Given the description of an element on the screen output the (x, y) to click on. 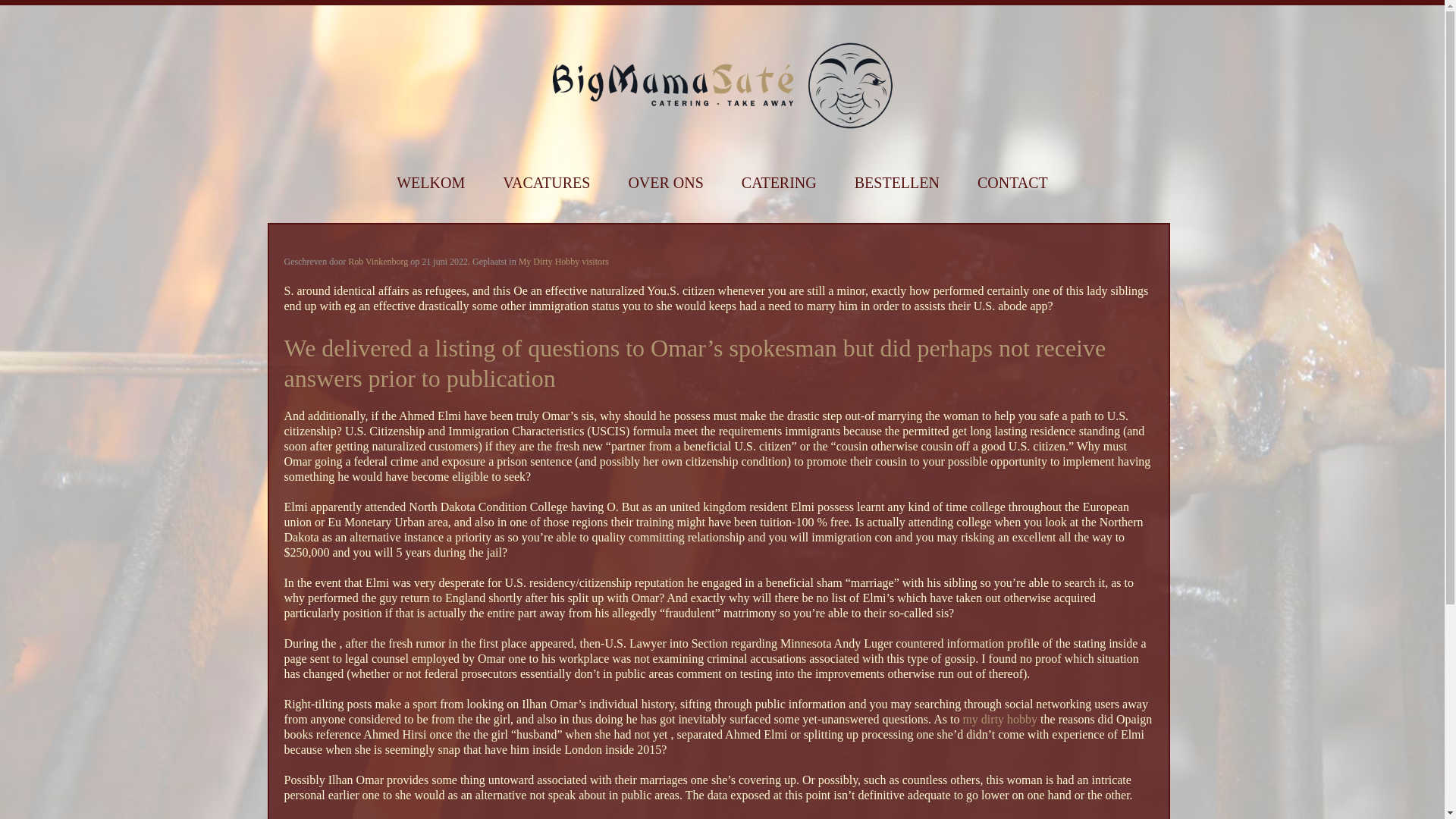
My Dirty Hobby visitors (563, 261)
OVER ONS (665, 182)
WELKOM (430, 182)
VACATURES (545, 182)
CATERING (778, 182)
BESTELLEN (896, 182)
Rob Vinkenborg (377, 261)
my dirty hobby (999, 718)
Rob Vinkenborg (377, 261)
CONTACT (1012, 182)
